Given the description of an element on the screen output the (x, y) to click on. 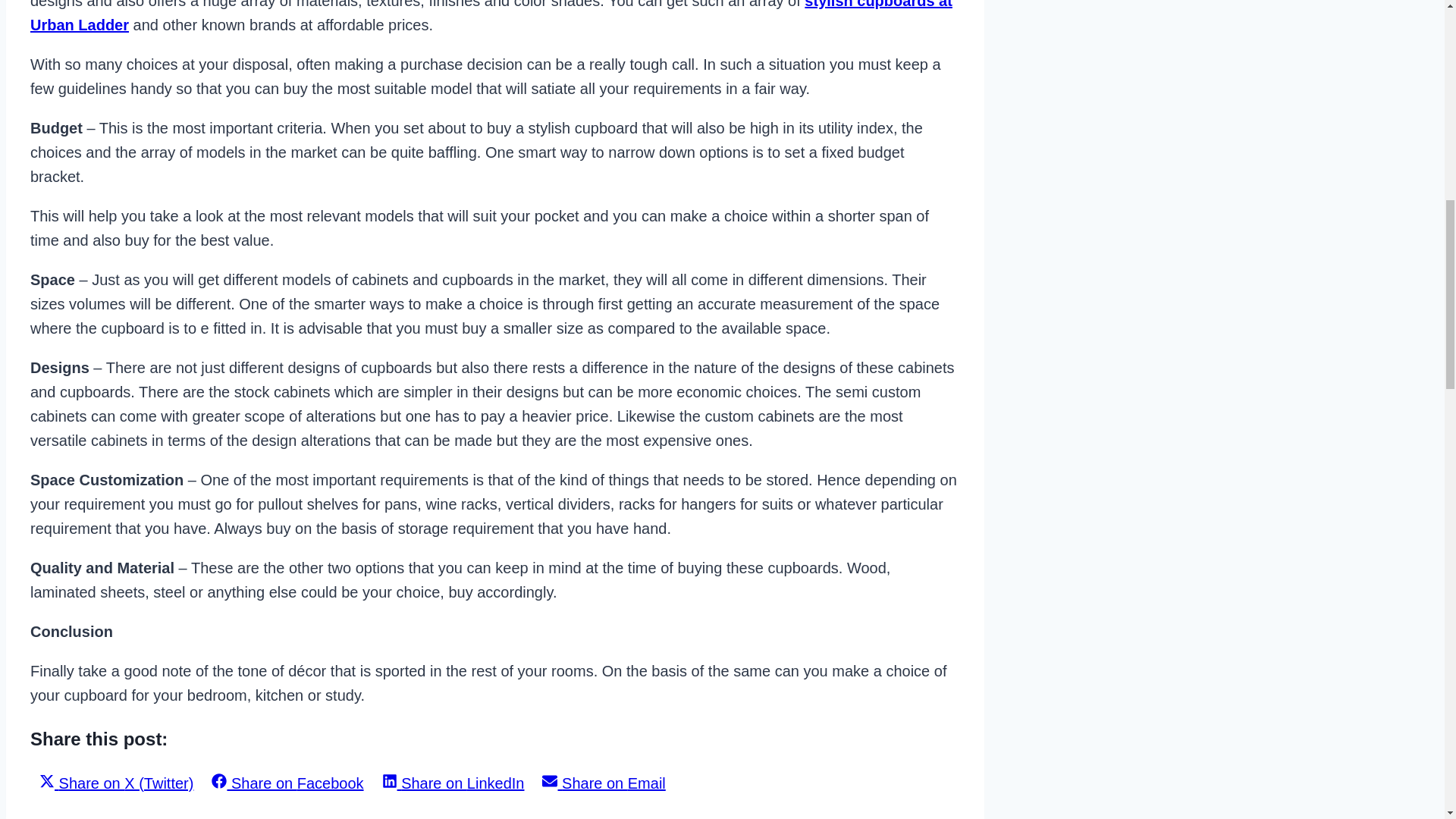
Share on LinkedIn (453, 782)
Share on Facebook (287, 782)
stylish cupboards at Urban Ladder (491, 16)
Share on Email (603, 782)
